Given the description of an element on the screen output the (x, y) to click on. 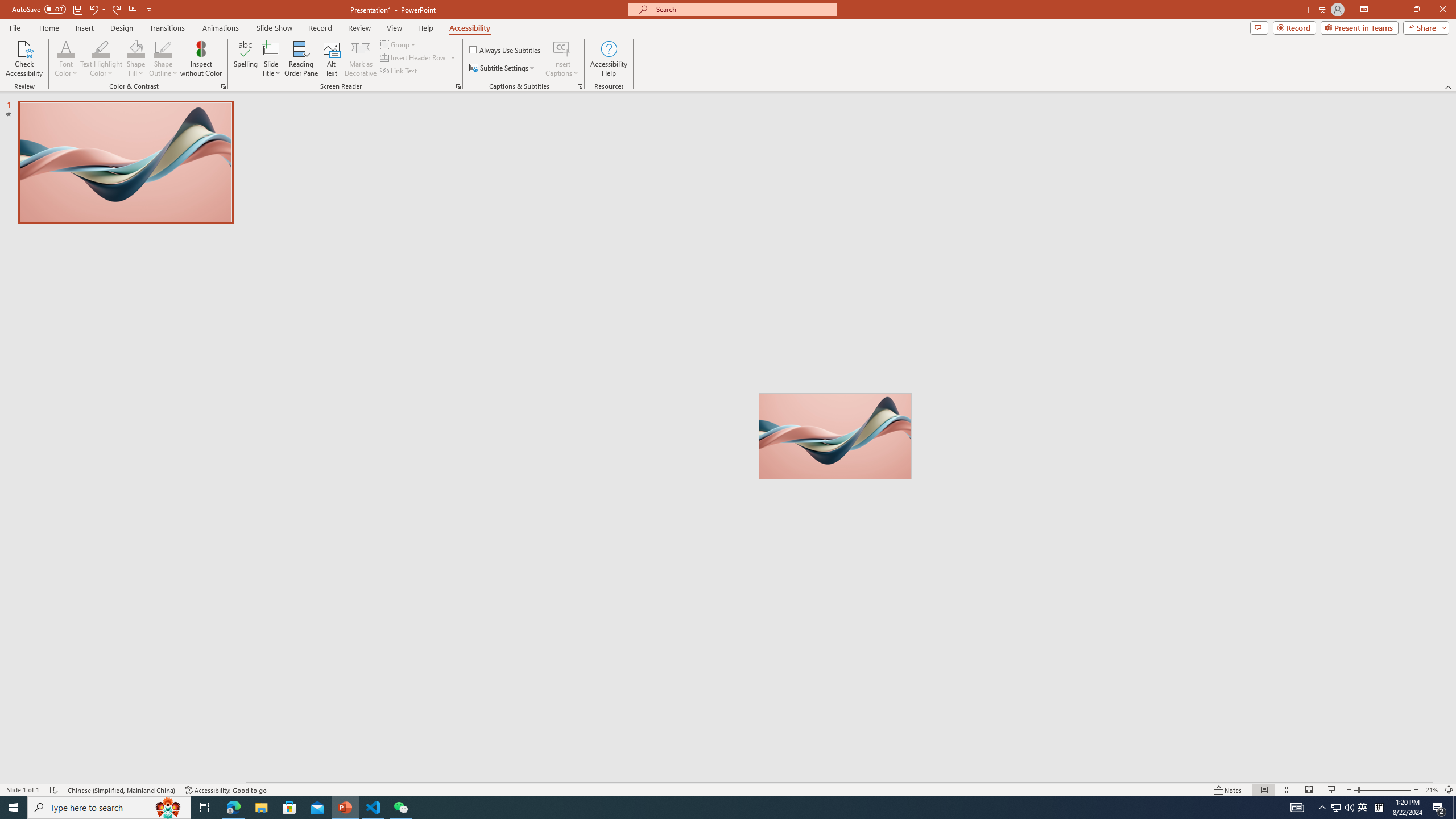
Wavy 3D art (834, 436)
Shape Outline Blue, Accent 1 (163, 48)
Zoom 21% (1431, 790)
Slide Title (271, 58)
Shape Fill Orange, Accent 2 (135, 48)
Subtitle Settings (502, 67)
